Given the description of an element on the screen output the (x, y) to click on. 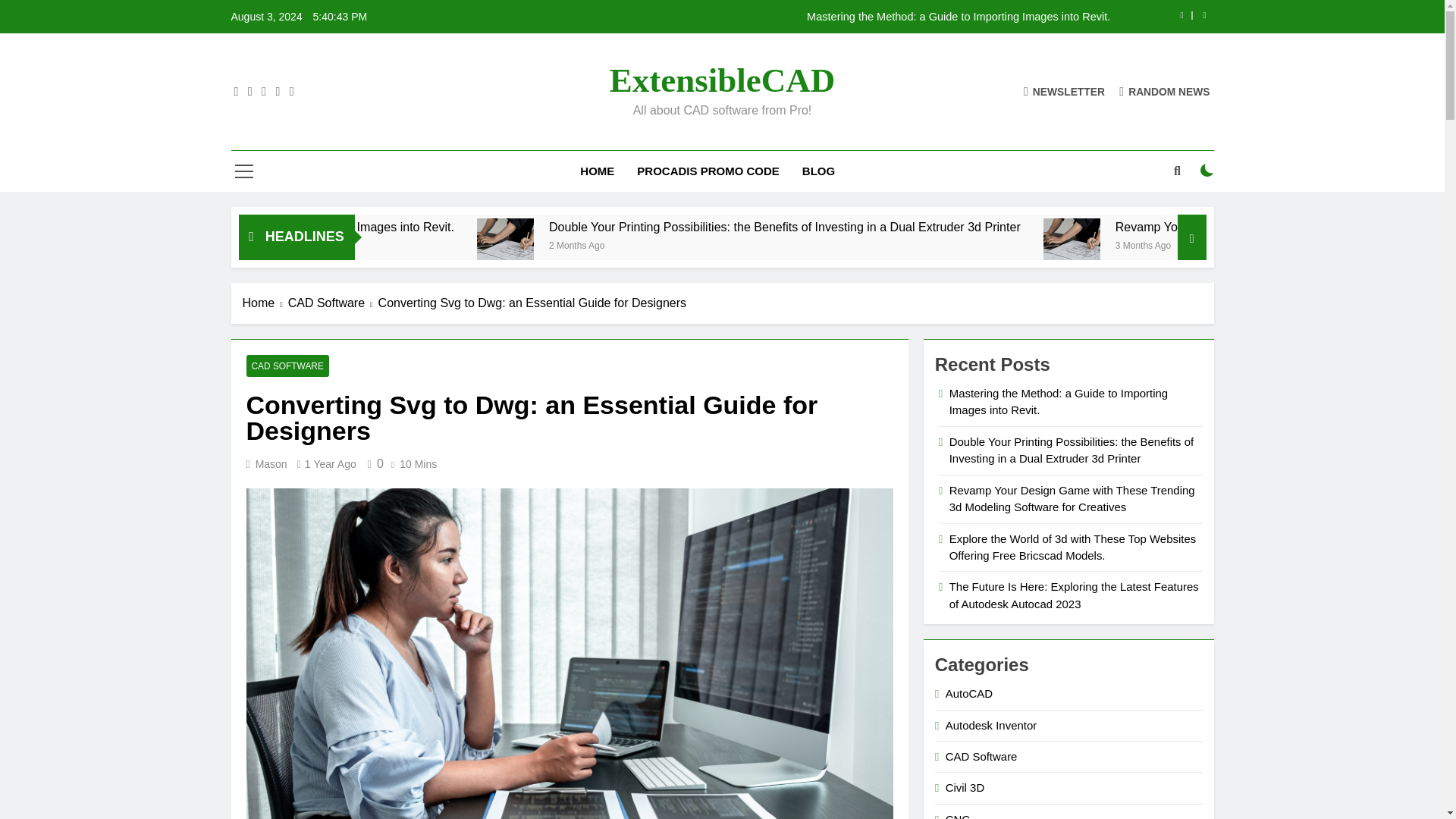
PROCADIS PROMO CODE (708, 170)
2 Months Ago (778, 244)
on (1206, 170)
2 Weeks Ago (355, 244)
HOME (597, 170)
ExtensibleCAD (722, 80)
BLOG (817, 170)
NEWSLETTER (1064, 91)
RANDOM NEWS (1164, 91)
